Given the description of an element on the screen output the (x, y) to click on. 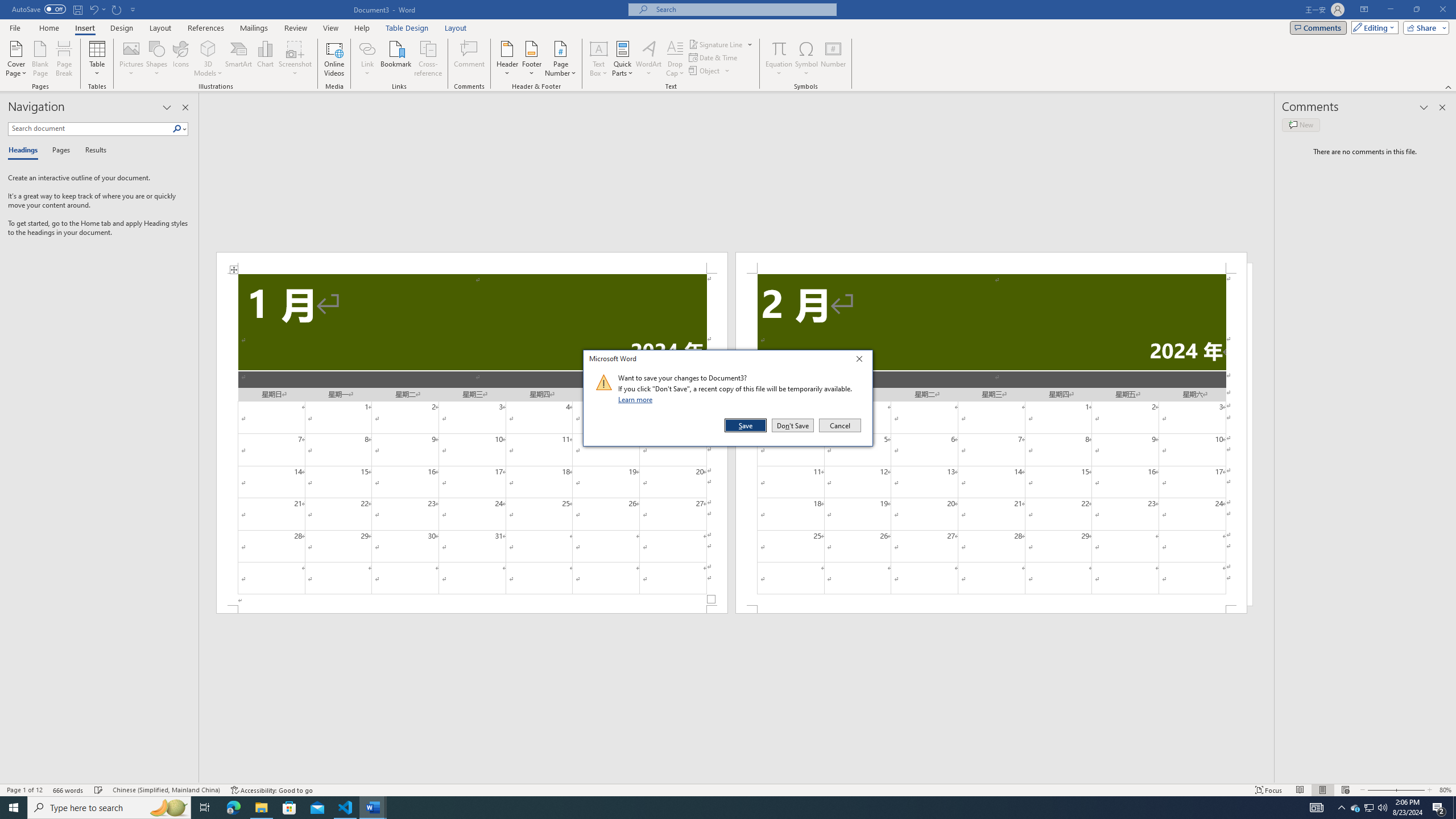
Signature Line (721, 44)
Close pane (185, 107)
Q2790: 100% (1382, 807)
Action Center, 2 new notifications (1439, 807)
Save (746, 425)
Microsoft Store (289, 807)
Chart... (265, 58)
Visual Studio Code - 1 running window (345, 807)
Headings (25, 150)
SmartArt... (238, 58)
Cross-reference... (428, 58)
Cancel (839, 425)
Word - 2 running windows (373, 807)
Collapse the Ribbon (1448, 86)
